Given the description of an element on the screen output the (x, y) to click on. 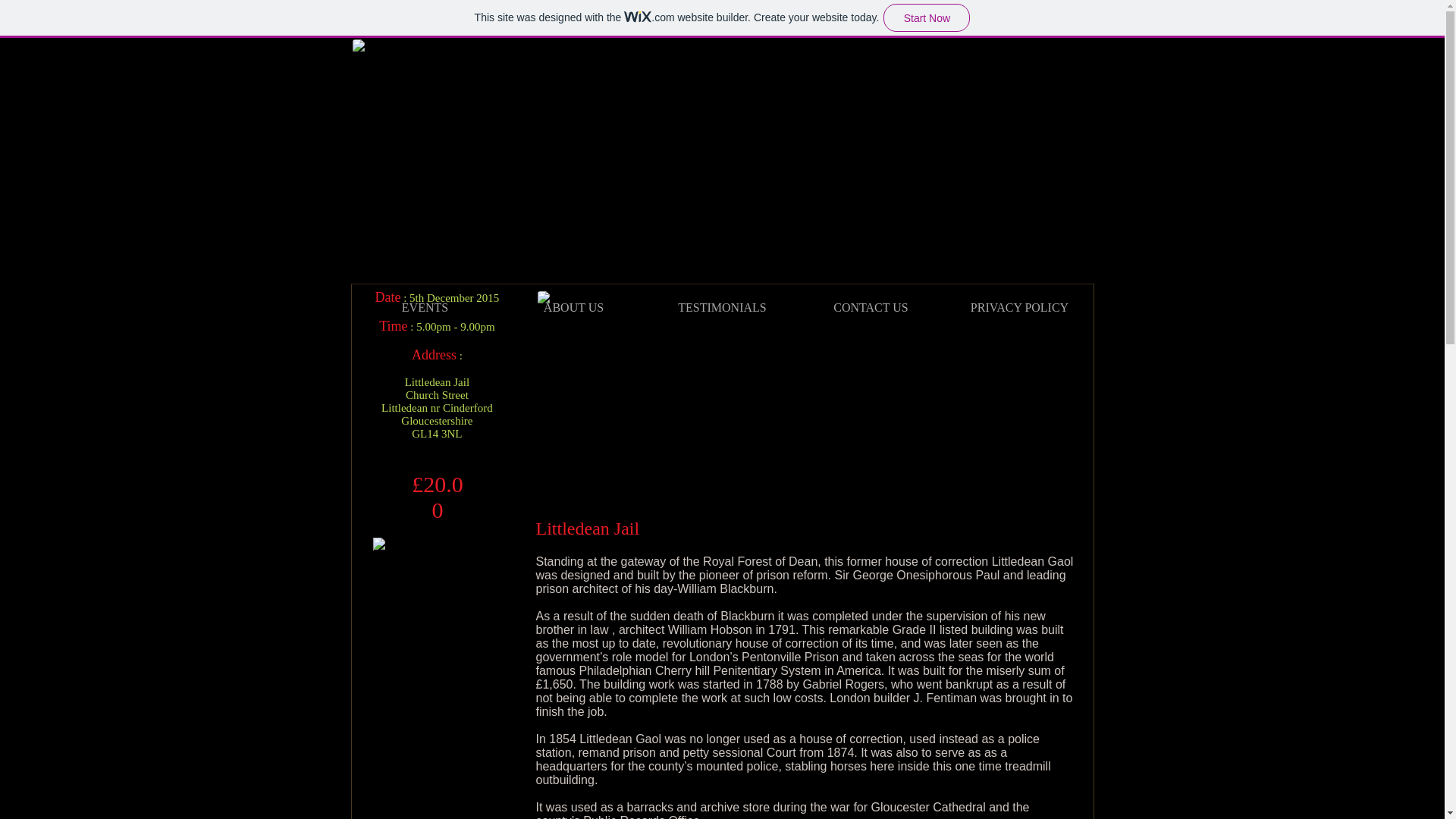
PRIVACY POLICY (1018, 307)
ABOUT US (573, 307)
TESTIMONIALS (721, 307)
Littledean Jail (805, 399)
EVENTS (424, 307)
CONTACT US (870, 307)
